Given the description of an element on the screen output the (x, y) to click on. 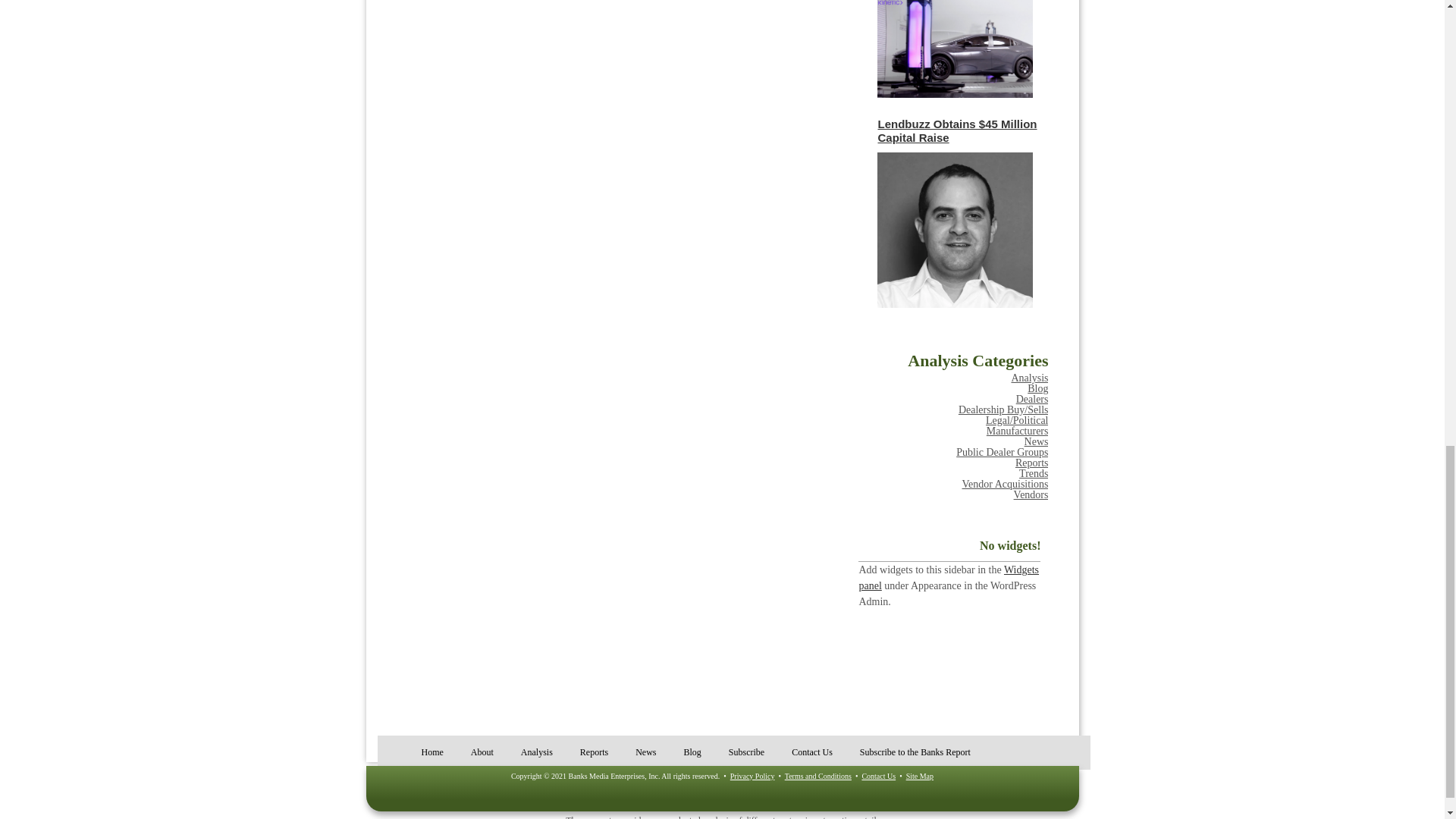
Trends (1033, 473)
Terms and Conditions (817, 776)
Contact Us (878, 776)
Vendor Acquisitions (1005, 483)
Sitemap (919, 776)
Public Dealer Groups (1002, 451)
Privacy Policy (752, 776)
Reports (1031, 462)
Widgets panel (949, 577)
Vendors (1030, 494)
Analysis (1029, 378)
Manufacturers (1017, 430)
Dealers (1032, 398)
Blog (1037, 388)
News (1036, 441)
